Given the description of an element on the screen output the (x, y) to click on. 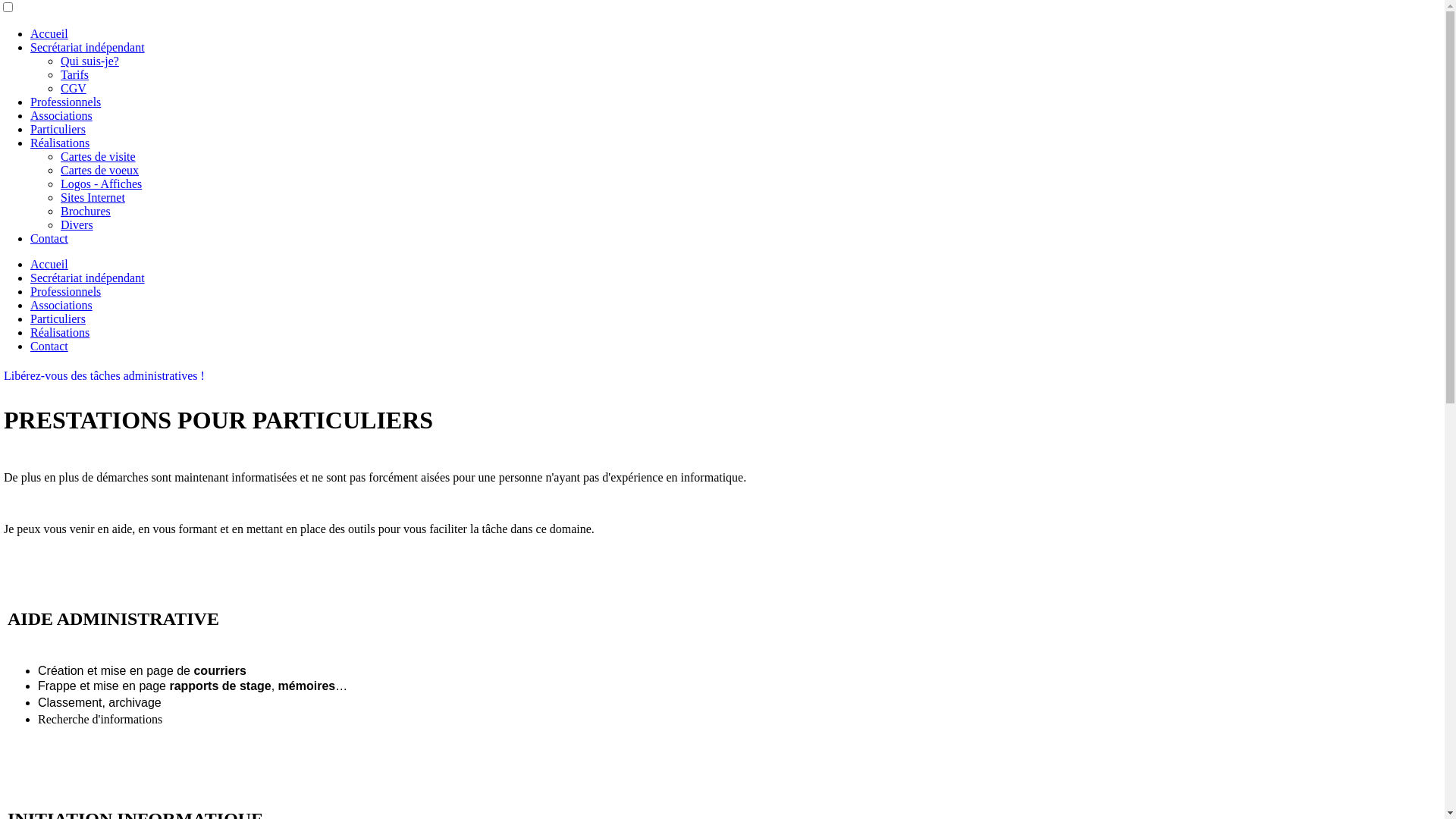
Sites Internet Element type: text (92, 197)
Associations Element type: text (61, 115)
Cartes de visite Element type: text (97, 156)
Brochures Element type: text (85, 210)
Logos - Affiches Element type: text (100, 183)
Professionnels Element type: text (65, 291)
Professionnels Element type: text (65, 101)
Cartes de voeux Element type: text (99, 169)
Accueil Element type: text (49, 33)
Divers Element type: text (76, 224)
Qui suis-je? Element type: text (89, 60)
Contact Element type: text (49, 345)
Associations Element type: text (61, 304)
Particuliers Element type: text (57, 318)
Accueil Element type: text (49, 263)
Tarifs Element type: text (74, 74)
Particuliers Element type: text (57, 128)
Contact Element type: text (49, 238)
CGV Element type: text (73, 87)
